Given the description of an element on the screen output the (x, y) to click on. 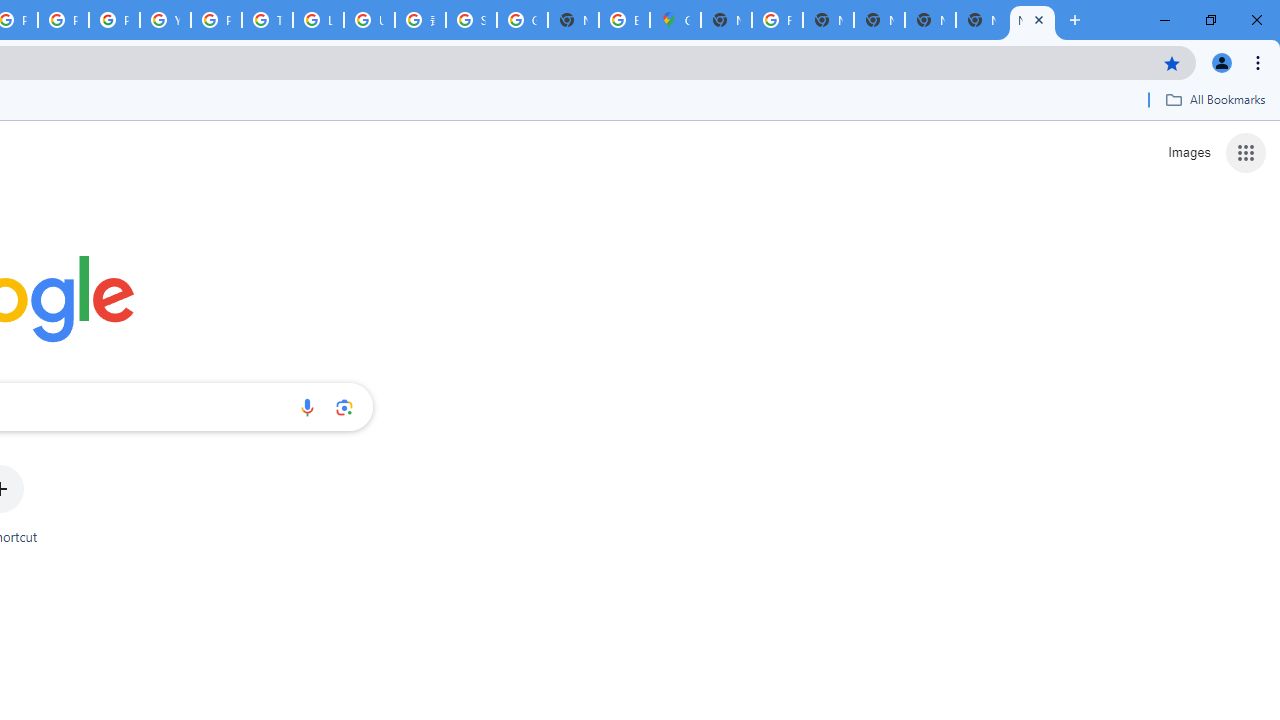
Sign in - Google Accounts (470, 20)
Privacy Help Center - Policies Help (63, 20)
Explore new street-level details - Google Maps Help (624, 20)
YouTube (164, 20)
Google Maps (675, 20)
Tips & tricks for Chrome - Google Chrome Help (267, 20)
